Given the description of an element on the screen output the (x, y) to click on. 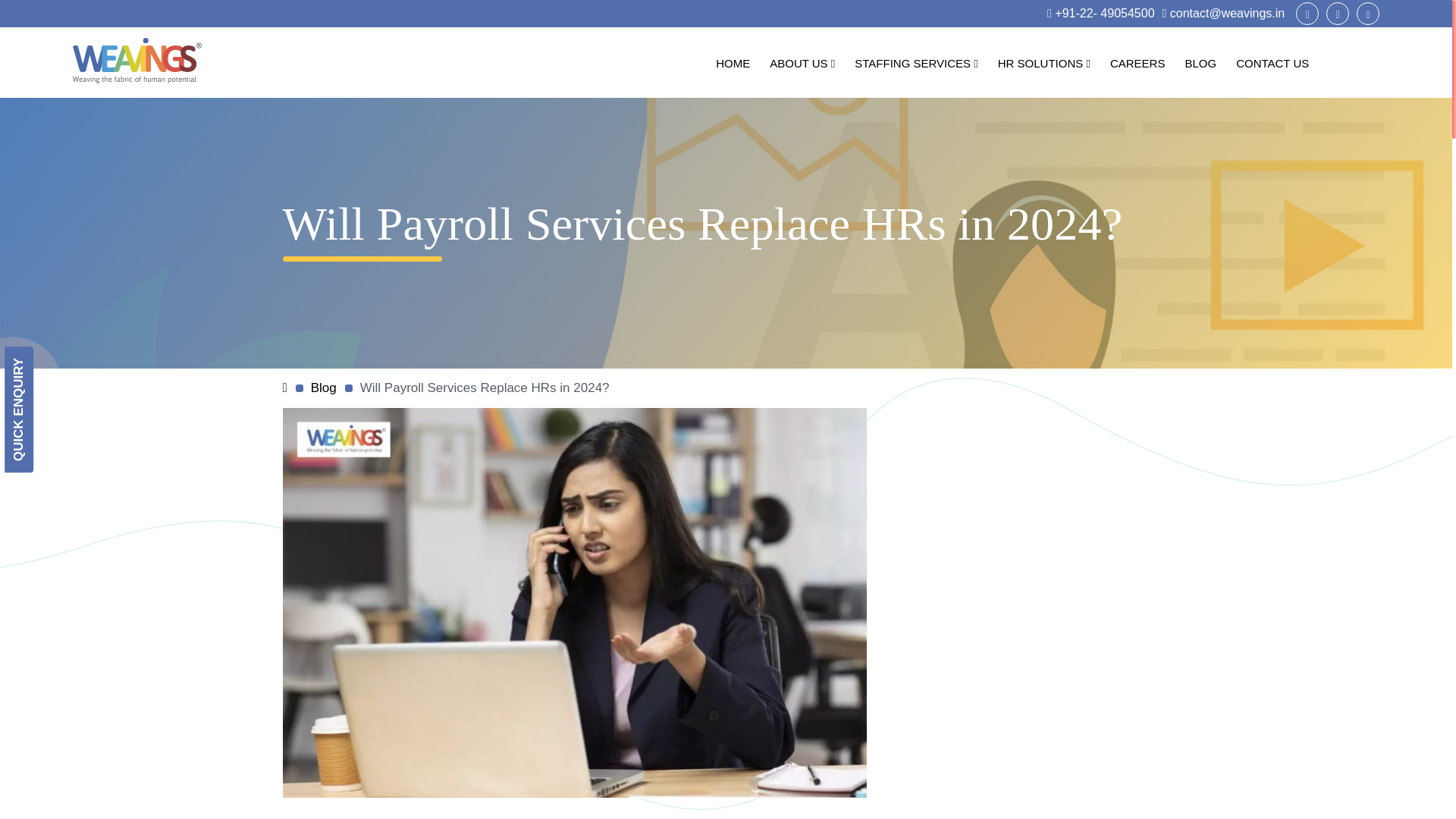
HOME (733, 63)
CONTACT US (1272, 63)
Share with Facebook (1307, 13)
HR SOLUTIONS (1044, 63)
Share with LinkedIn (1367, 13)
Share with Twitter (1337, 13)
Blog (323, 387)
BLOG (1199, 63)
ABOUT US (802, 63)
Weavings (137, 63)
STAFFING SERVICES (915, 63)
CAREERS (1137, 63)
